Given the description of an element on the screen output the (x, y) to click on. 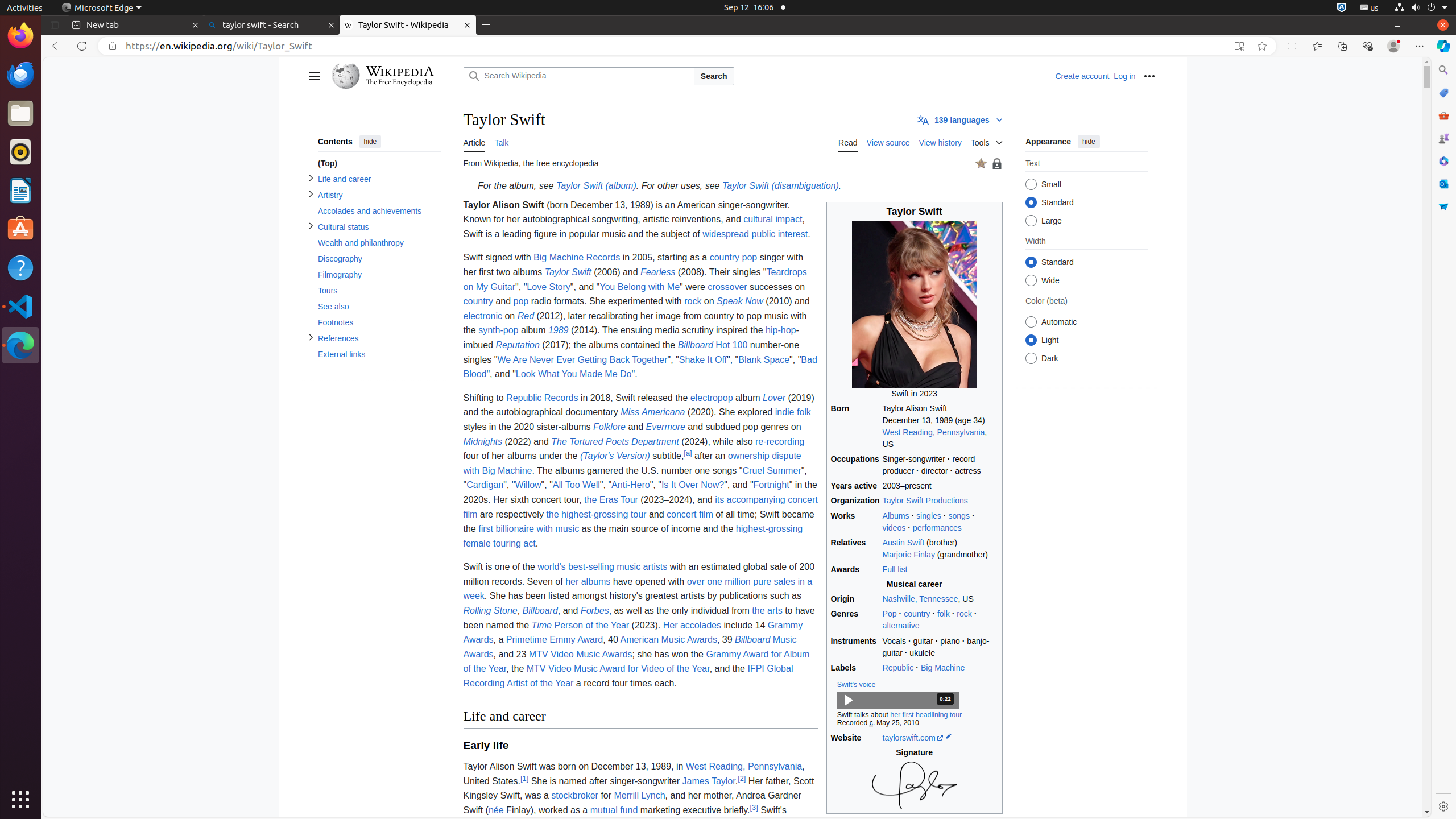
Big Machine Records Element type: link (576, 257)
Help Element type: push-button (20, 267)
Files Element type: push-button (20, 113)
Tools Element type: push-button (986, 140)
country pop Element type: link (733, 257)
